Given the description of an element on the screen output the (x, y) to click on. 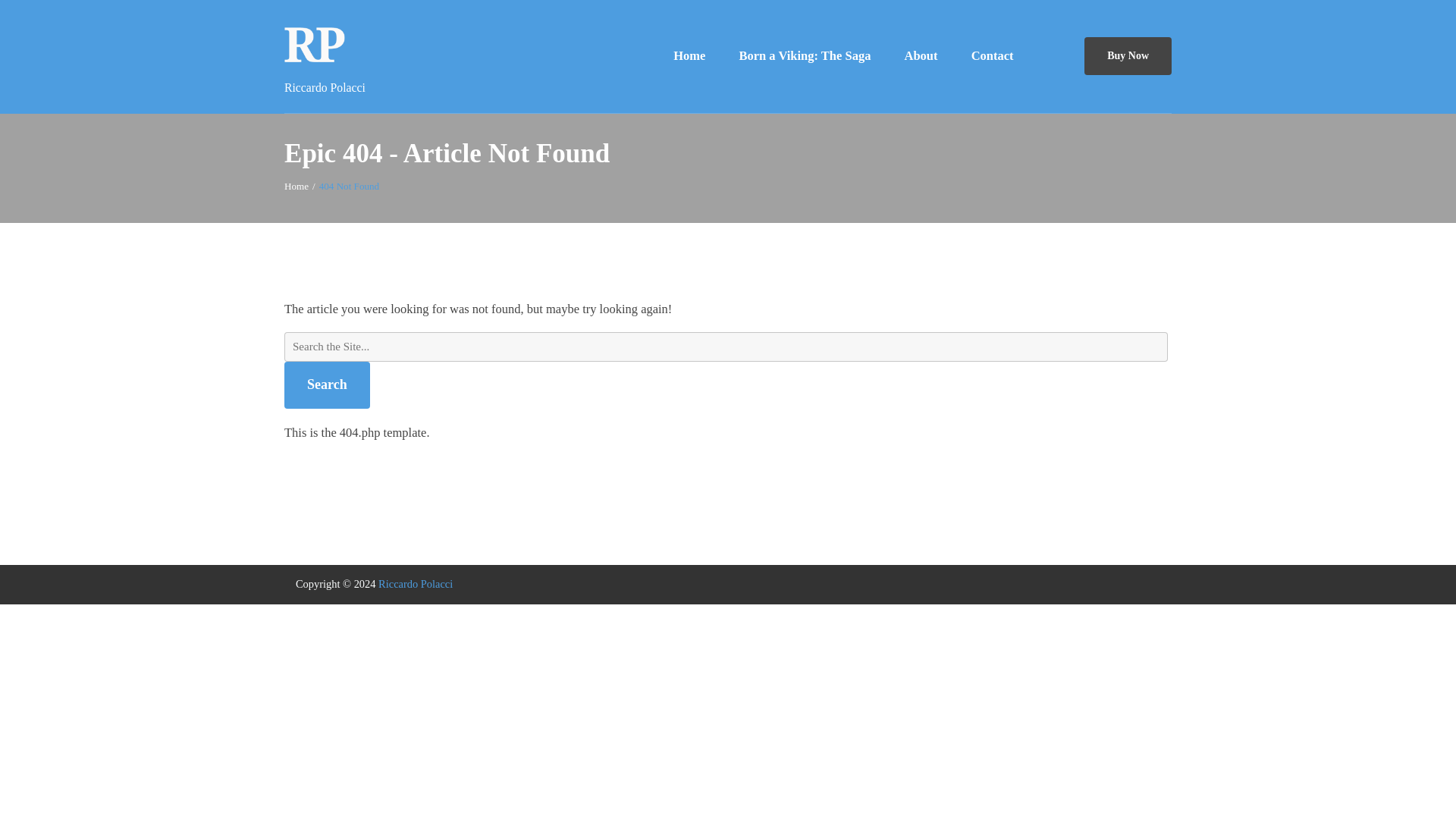
Search (326, 384)
Home (295, 185)
Home (689, 55)
Riccardo Polacci (415, 583)
Search (326, 384)
Buy Now (1127, 55)
Riccardo Polacci (295, 185)
Contact (992, 55)
About page (920, 55)
About (920, 55)
Born a Viking: The Saga (803, 55)
